Given the description of an element on the screen output the (x, y) to click on. 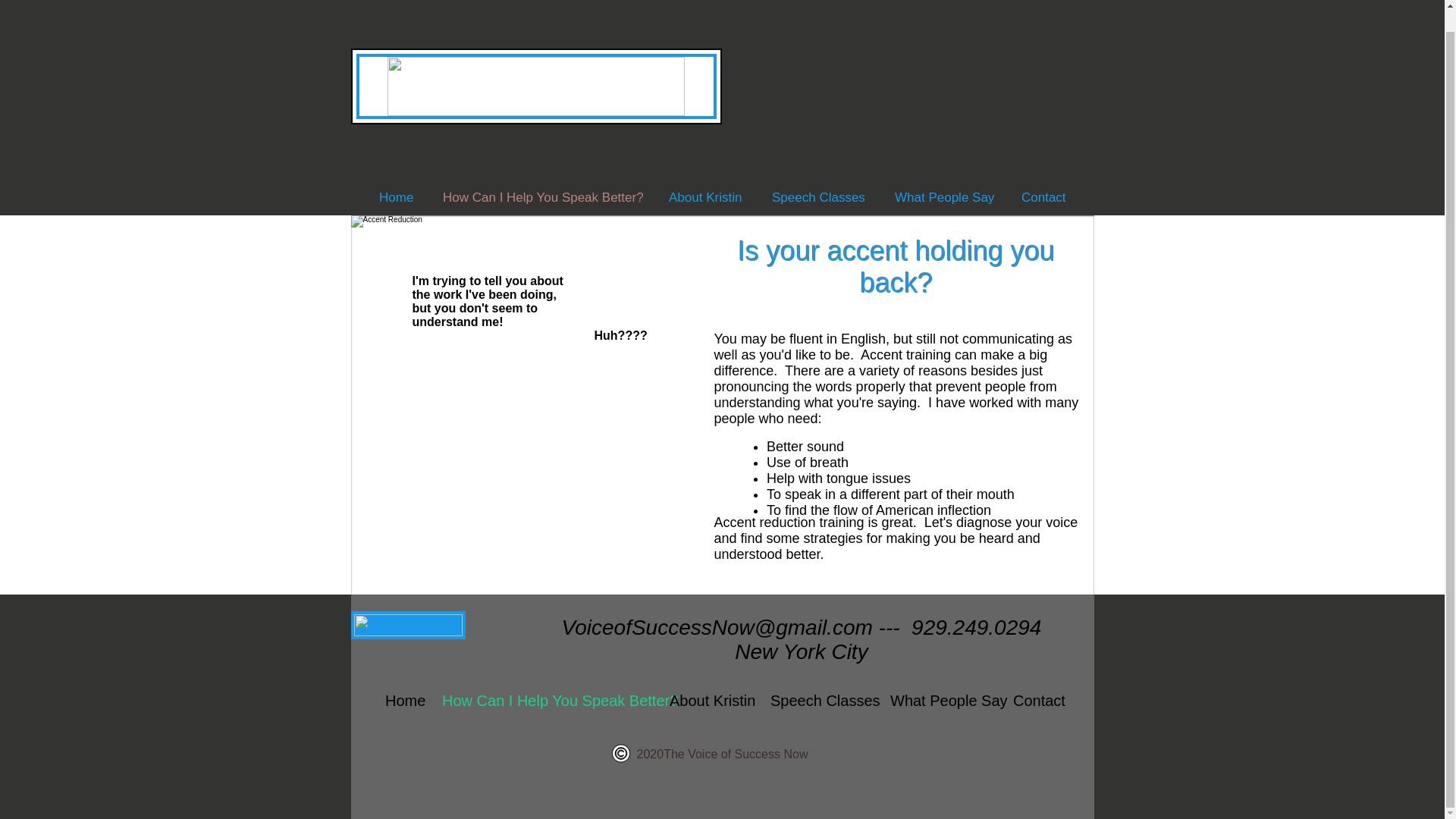
Home (402, 700)
929.249.0294 (976, 627)
Contact (1035, 700)
Contact (1043, 197)
About Kristin (708, 700)
How Can I Help You Speak Better? (544, 700)
What People Say (940, 700)
HiRes.jpg (522, 397)
Home (396, 197)
How Can I Help You Speak Better? (540, 197)
